Given the description of an element on the screen output the (x, y) to click on. 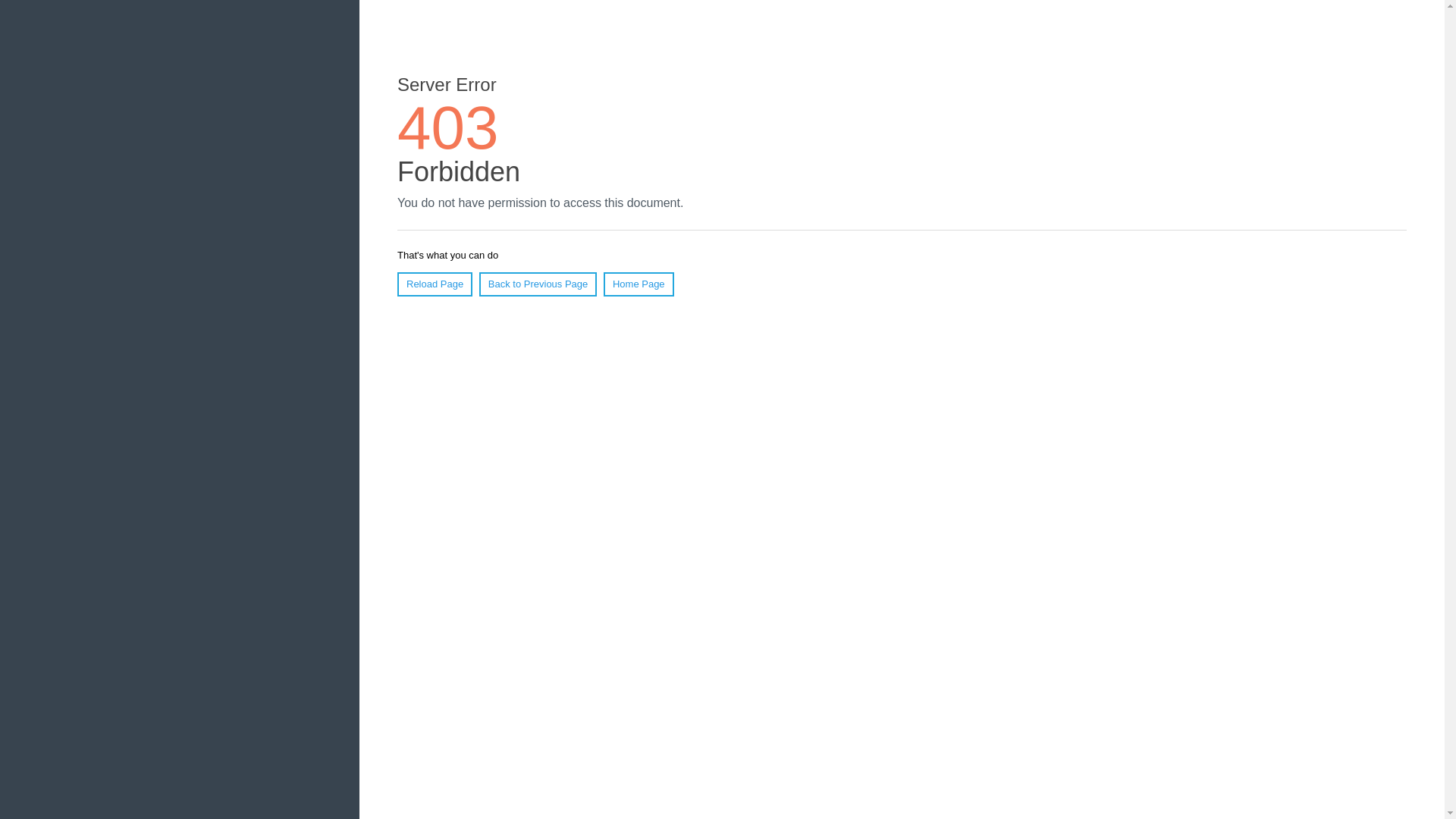
Back to Previous Page Element type: text (538, 284)
Reload Page Element type: text (434, 284)
Home Page Element type: text (638, 284)
